Given the description of an element on the screen output the (x, y) to click on. 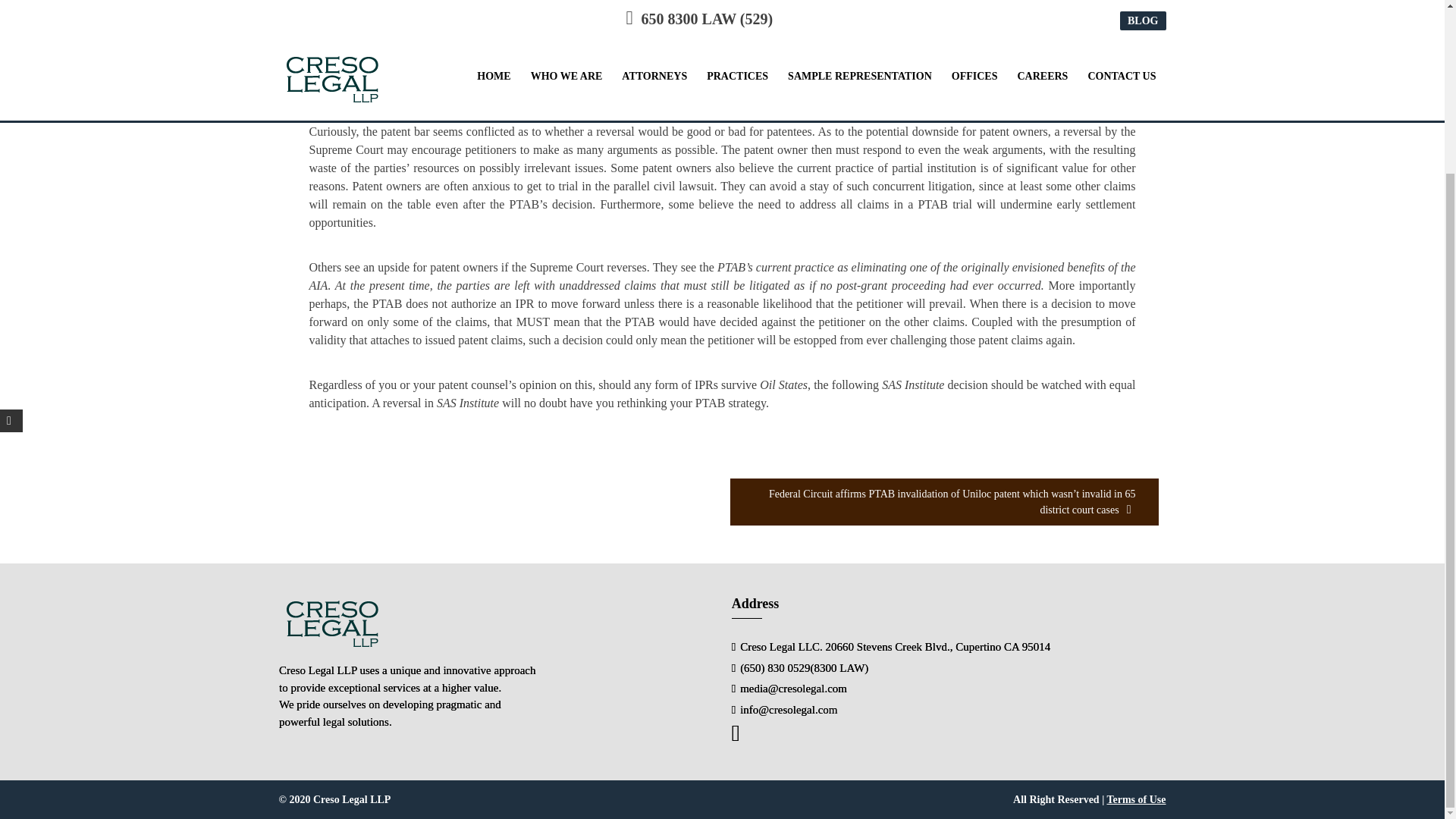
Terms of Use (1136, 798)
